Given the description of an element on the screen output the (x, y) to click on. 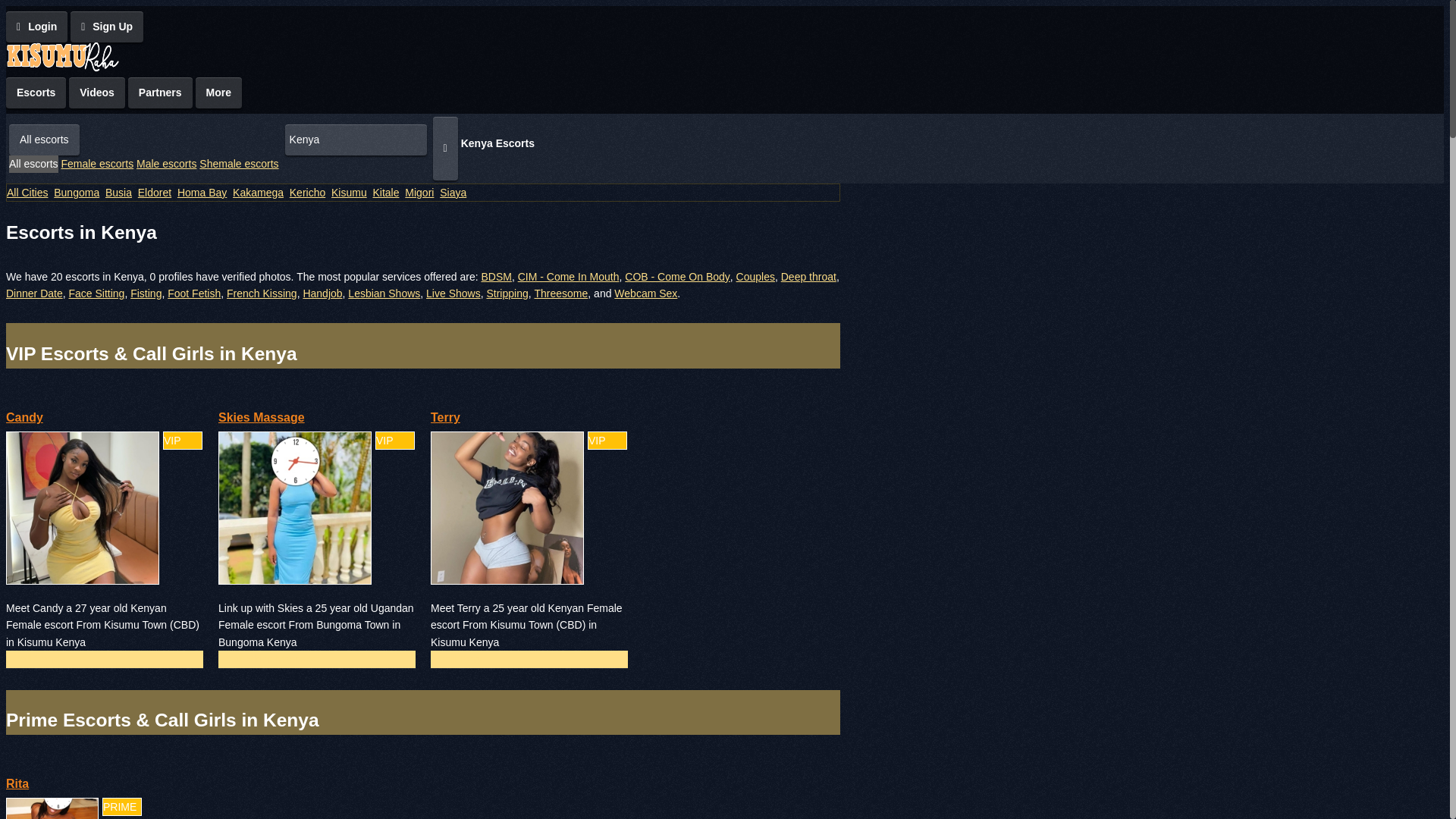
All escorts (33, 163)
Lesbian Shows (383, 293)
Eldoret (154, 192)
Dinner Date (33, 293)
Homa Bay (202, 192)
Kitale (385, 192)
Handjob (322, 293)
Face Sitting (95, 293)
Webcam Sex (645, 293)
Foot Fetish (194, 293)
